Given the description of an element on the screen output the (x, y) to click on. 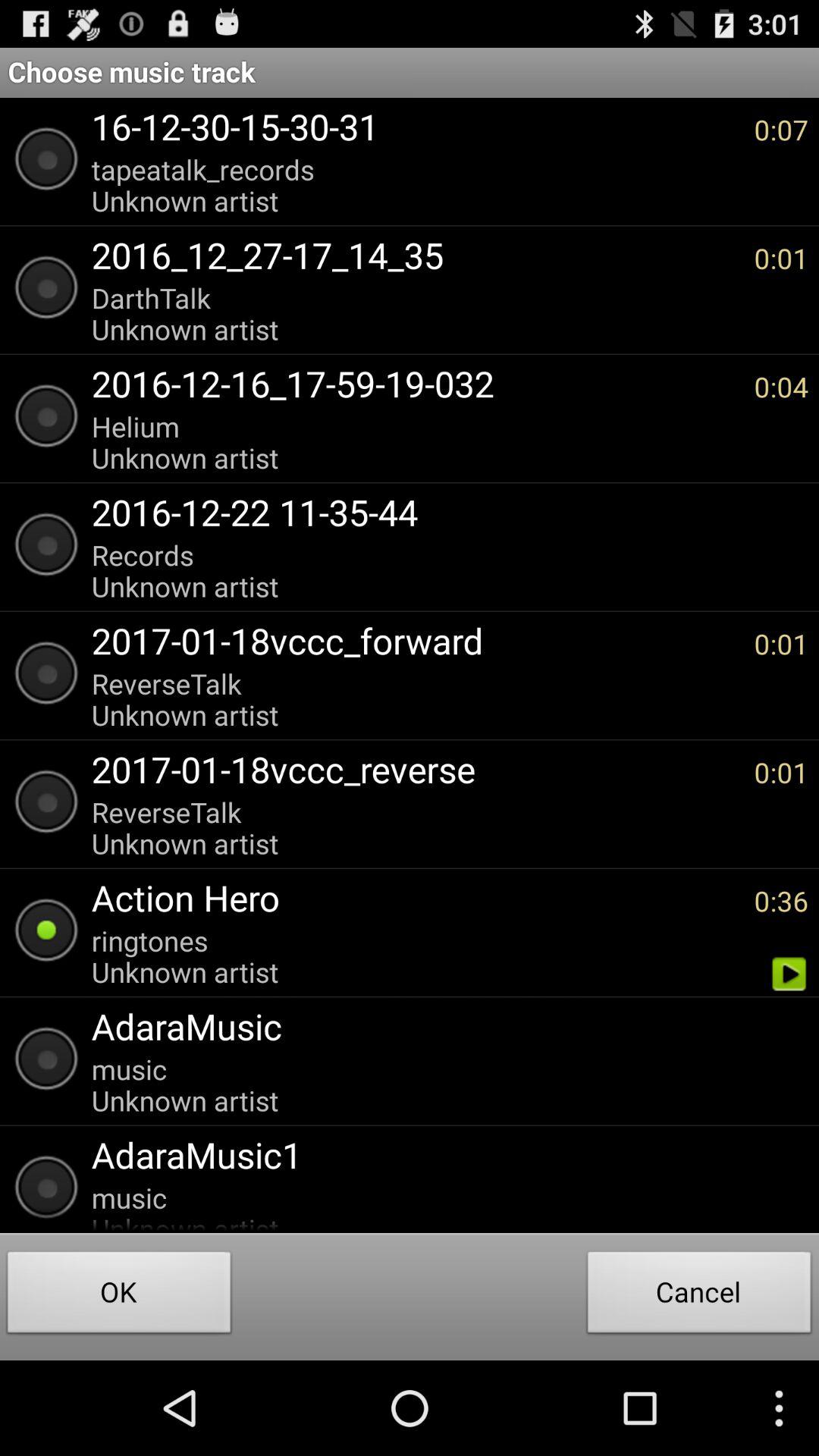
click app next to the ringtones
unknown artist app (789, 973)
